Given the description of an element on the screen output the (x, y) to click on. 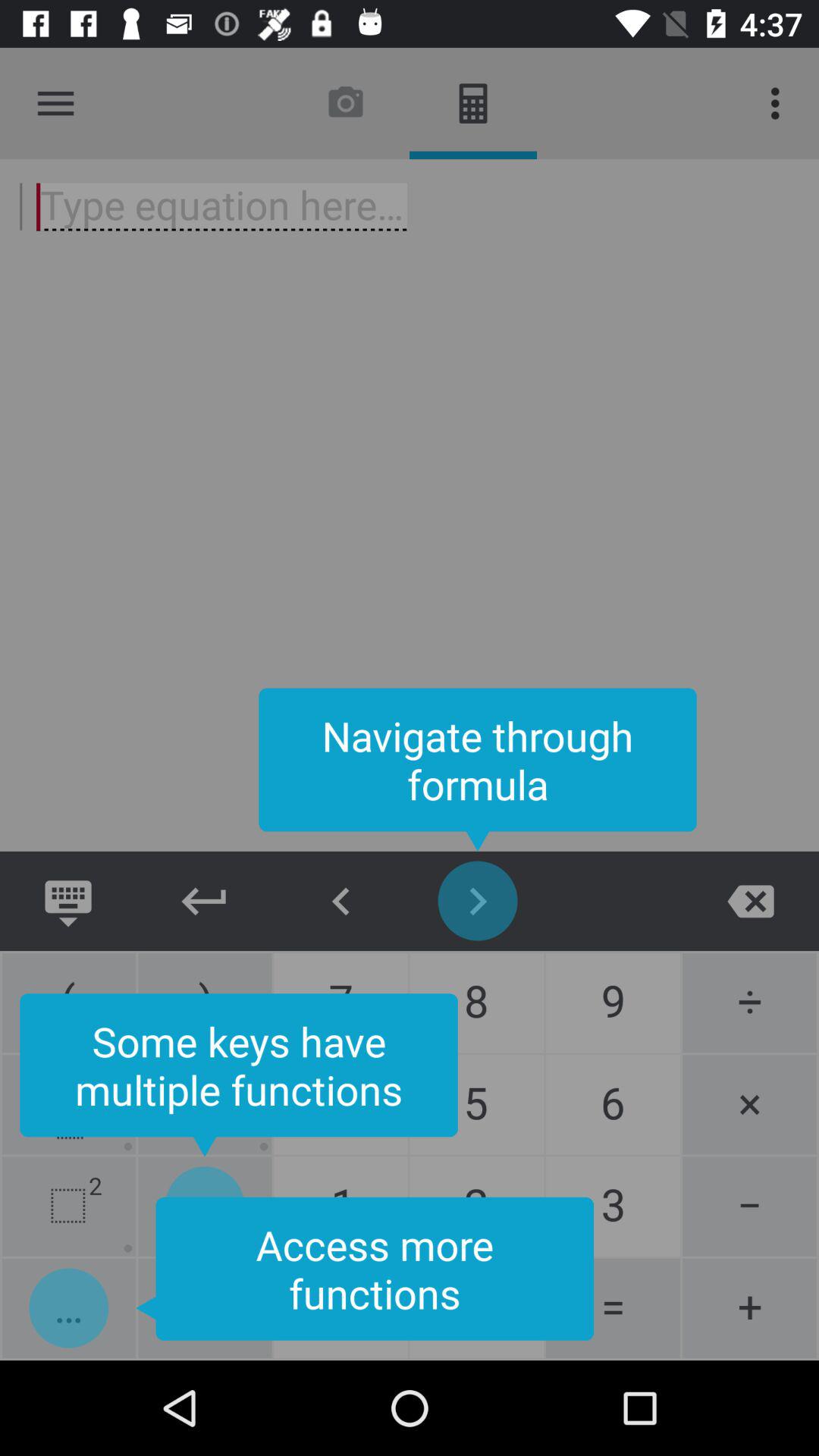
launch item at the top right corner (779, 103)
